Given the description of an element on the screen output the (x, y) to click on. 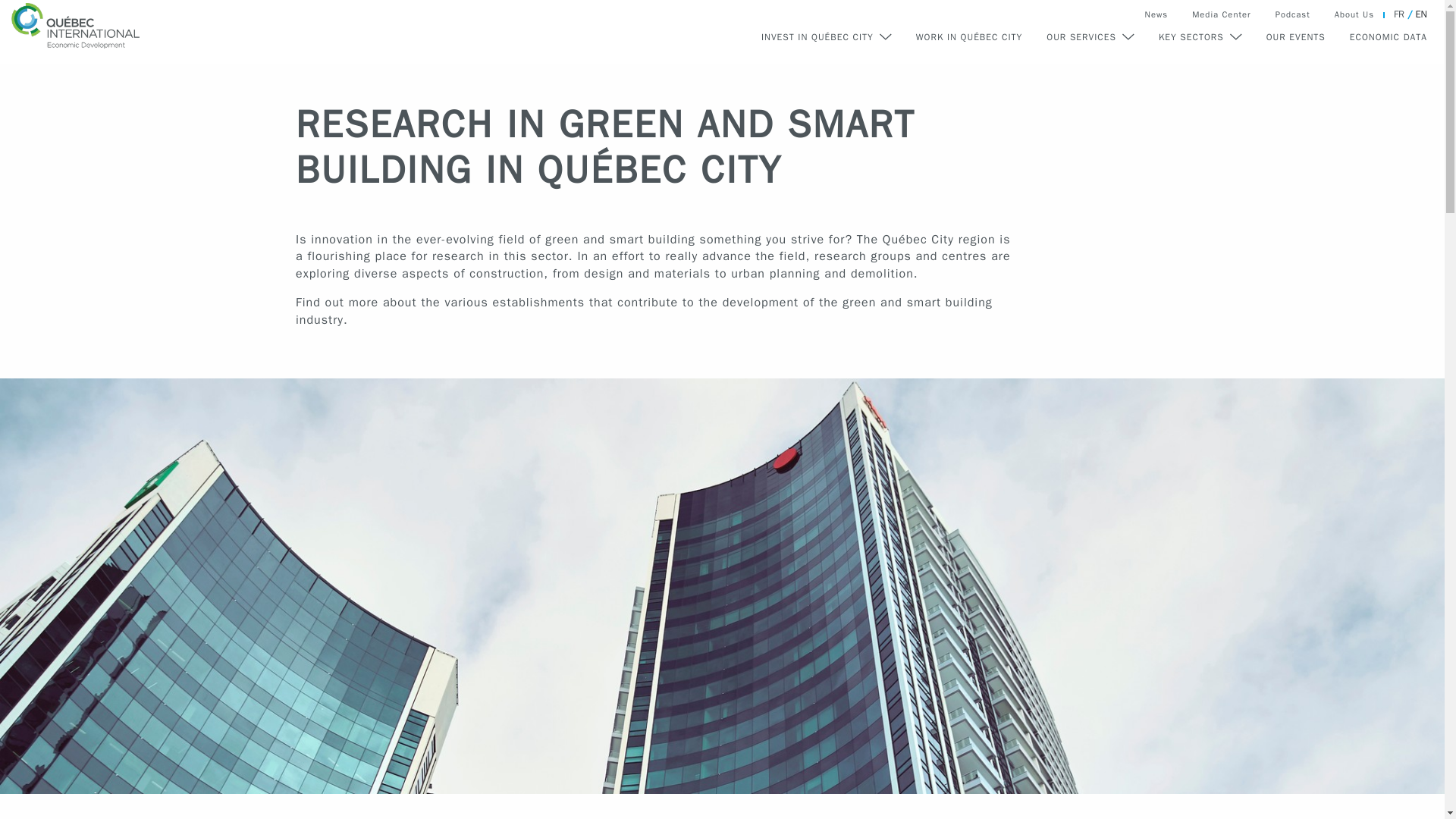
OUR EVENTS (1296, 37)
Podcast (1292, 14)
About Us (1353, 14)
News (1156, 14)
Media Center (1221, 14)
ECONOMIC DATA (1387, 37)
OUR SERVICES (1090, 37)
KEY SECTORS (1200, 37)
